Given the description of an element on the screen output the (x, y) to click on. 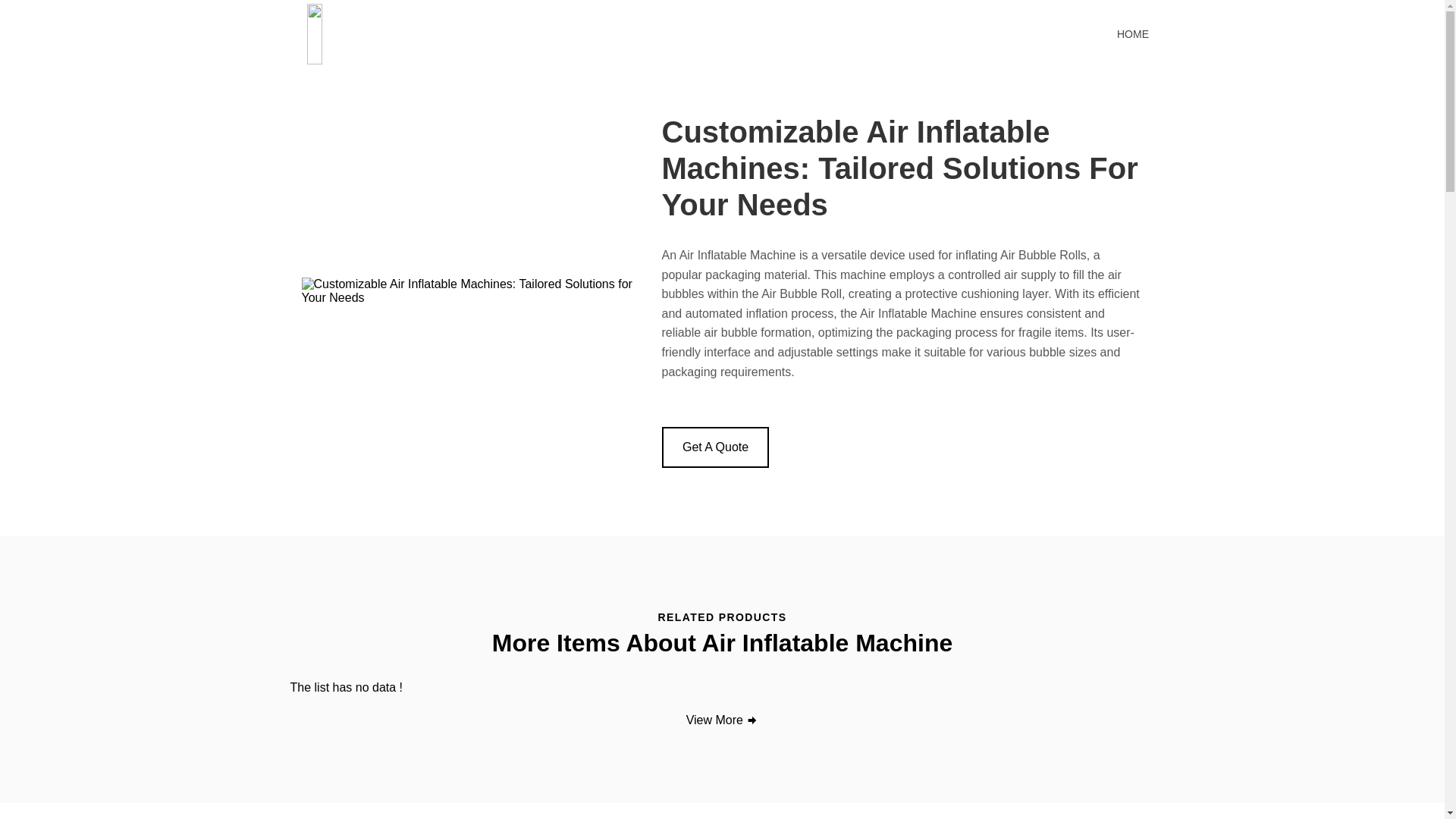
View More (722, 720)
Get A Quote (714, 446)
Get A Quote (714, 446)
View More (722, 720)
Back To Home (408, 32)
